Given the description of an element on the screen output the (x, y) to click on. 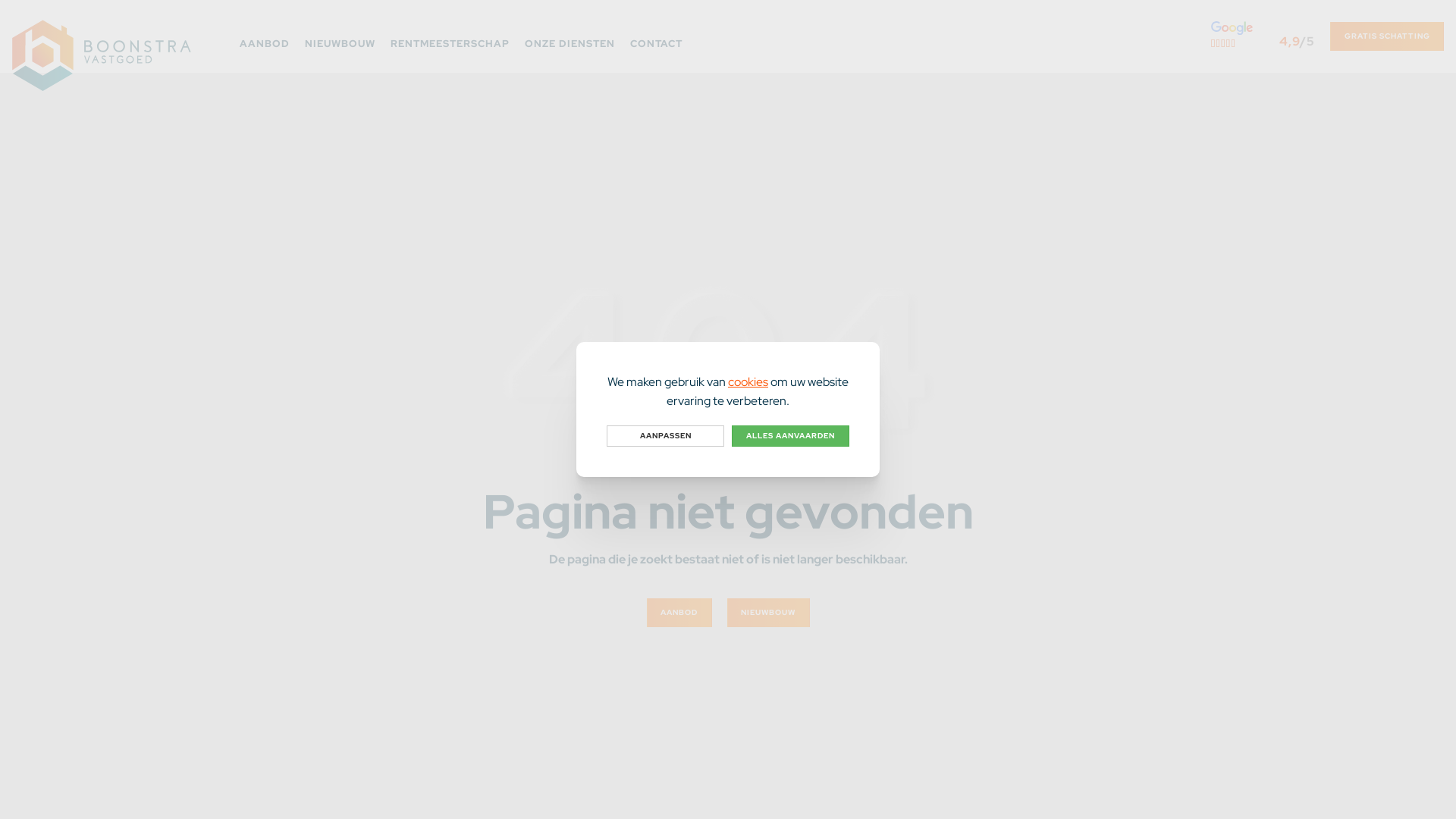
AANBOD Element type: text (678, 612)
ALLES AANVAARDEN Element type: text (790, 435)
NIEUWBOUW Element type: text (767, 612)
cookies Element type: text (748, 381)
Google - logo Element type: hover (1231, 27)
NIEUWBOUW Element type: text (339, 35)
CONTACT Element type: text (656, 35)
GRATIS SCHATTING Element type: text (1386, 35)
AANPASSEN Element type: text (665, 435)
ONZE DIENSTEN Element type: text (569, 35)
AANBOD Element type: text (264, 35)
RENTMEESTERSCHAP Element type: text (449, 35)
